Given the description of an element on the screen output the (x, y) to click on. 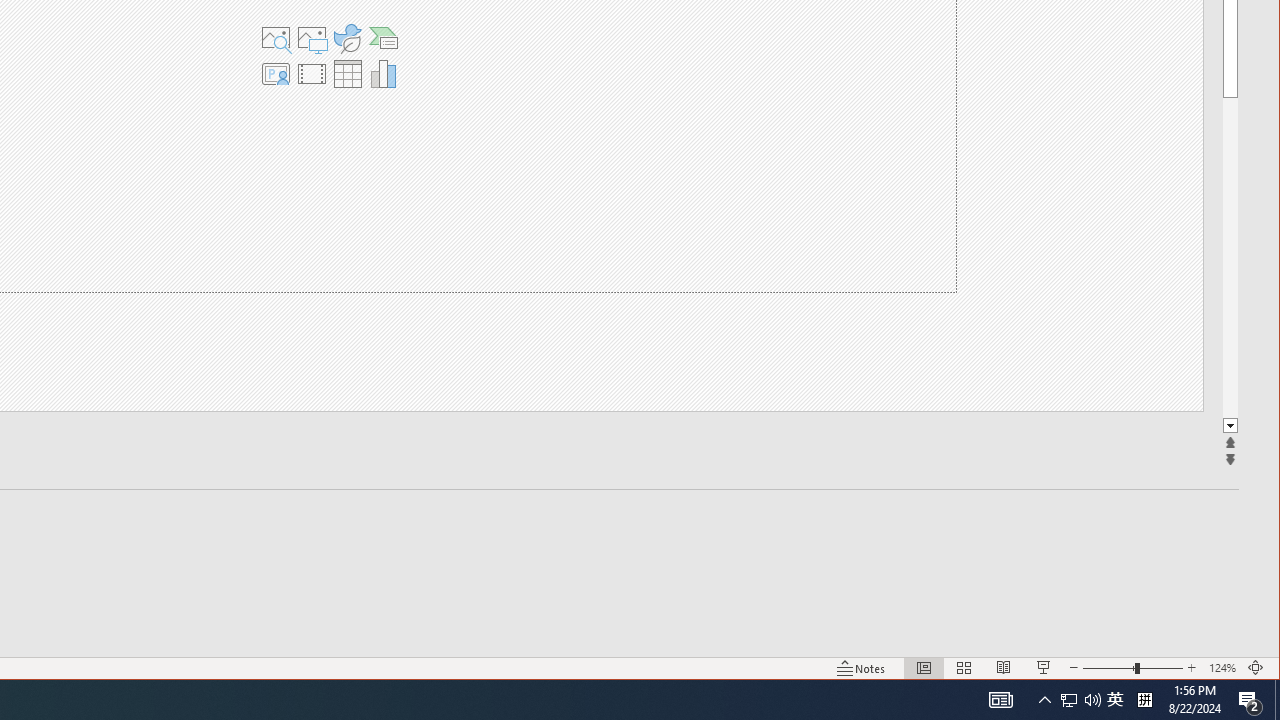
Stock Images (275, 38)
Insert Cameo (275, 74)
Insert an Icon (347, 38)
Insert a SmartArt Graphic (383, 38)
Pictures (311, 38)
Zoom 124% (1222, 668)
